Given the description of an element on the screen output the (x, y) to click on. 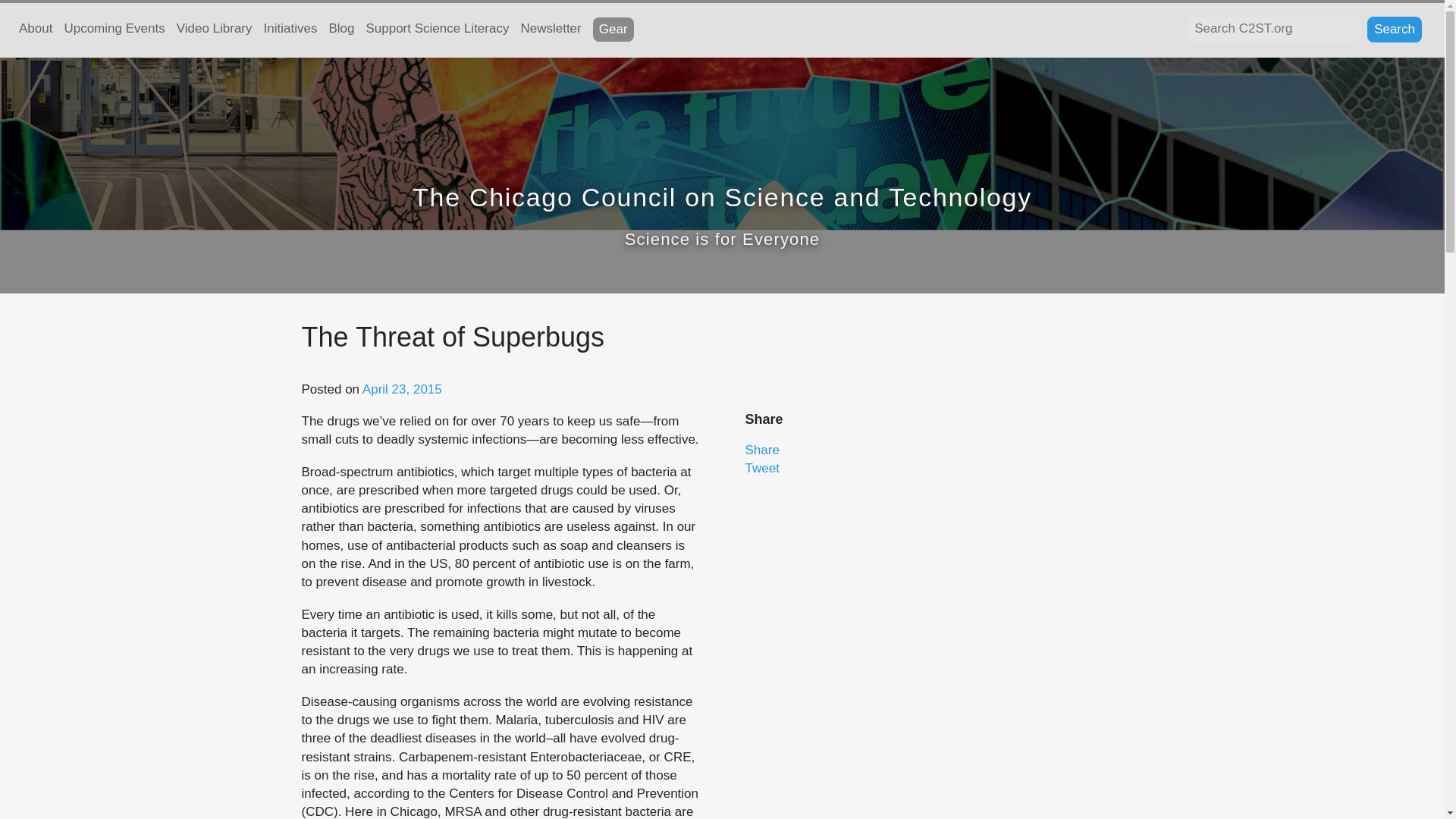
RSS (665, 29)
Initiatives (290, 29)
April 23, 2015 (402, 389)
Search (1394, 29)
Support Science Literacy (436, 29)
Video Library (213, 29)
The Chicago Council on Science and Technology (722, 196)
Upcoming Events (114, 29)
Search (1394, 29)
Tweet (761, 468)
